Given the description of an element on the screen output the (x, y) to click on. 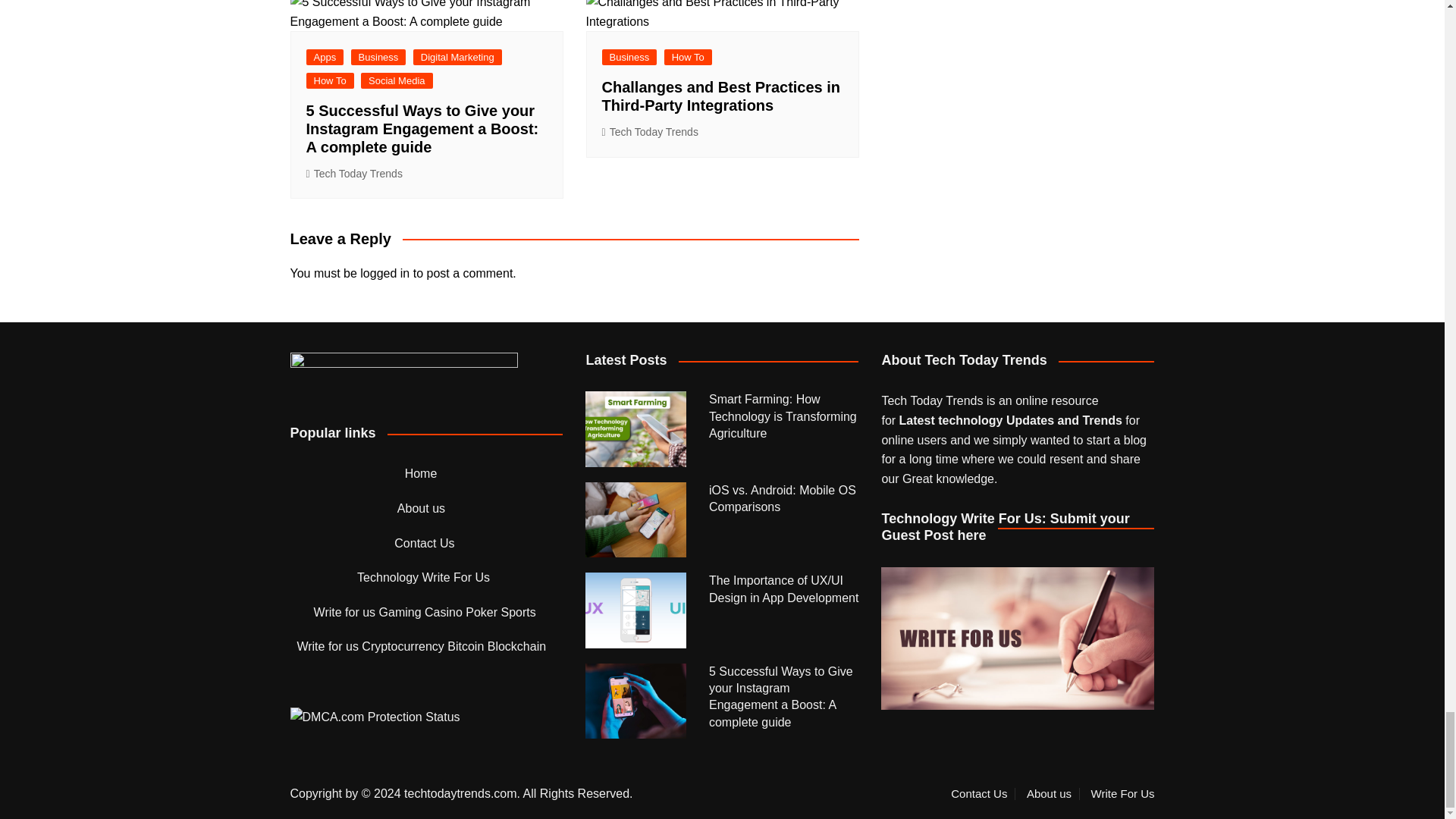
DMCA.com Protection Status (374, 716)
